Given the description of an element on the screen output the (x, y) to click on. 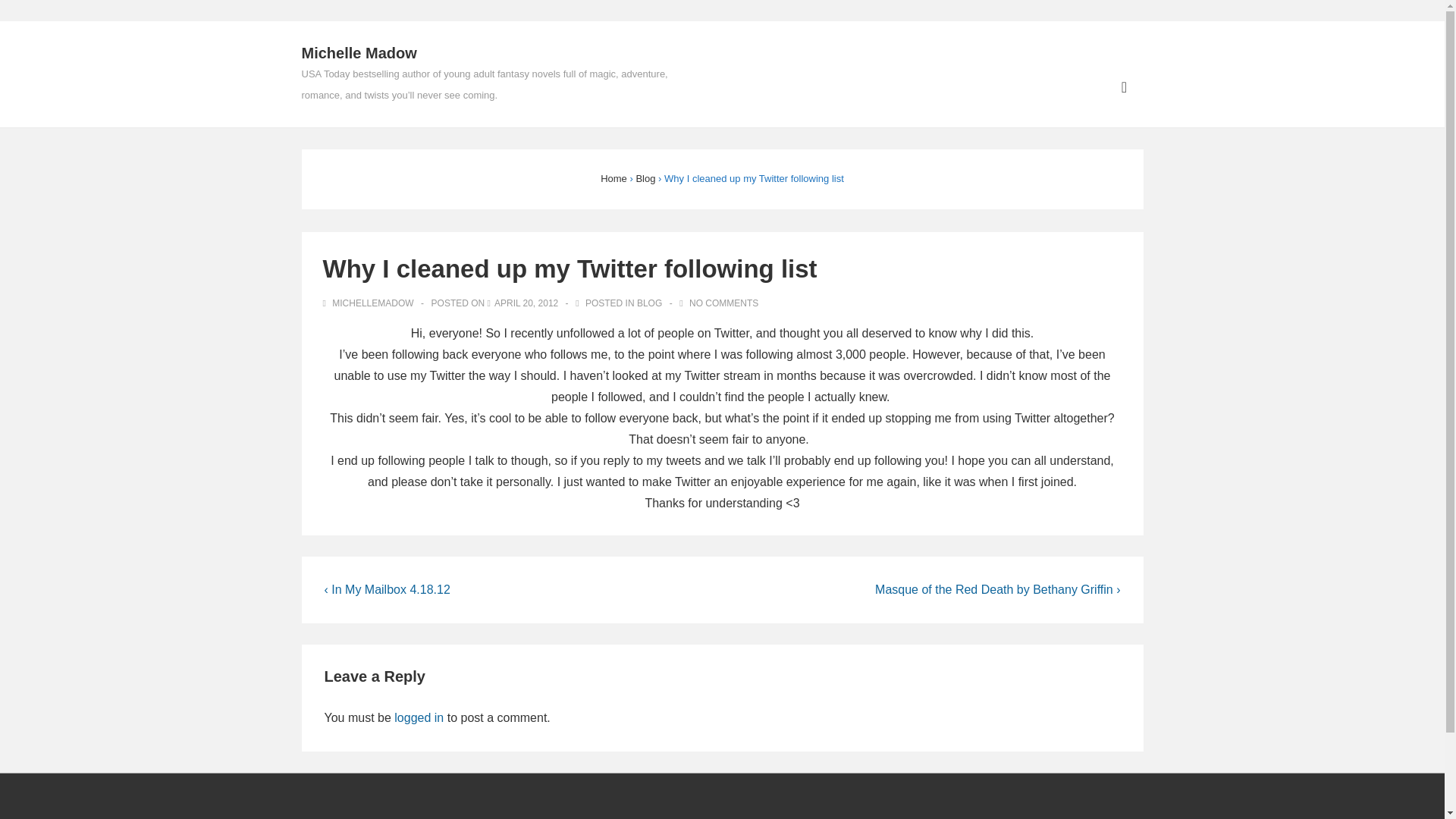
Why I cleaned up my Twitter following list (526, 303)
BLOG (649, 303)
Menu (1123, 87)
Home (613, 178)
MICHELLEMADOW (369, 303)
NO COMMENTS (723, 303)
logged in (419, 717)
Blog (644, 178)
APRIL 20, 2012 (526, 303)
View all posts by michellemadow (369, 303)
